Given the description of an element on the screen output the (x, y) to click on. 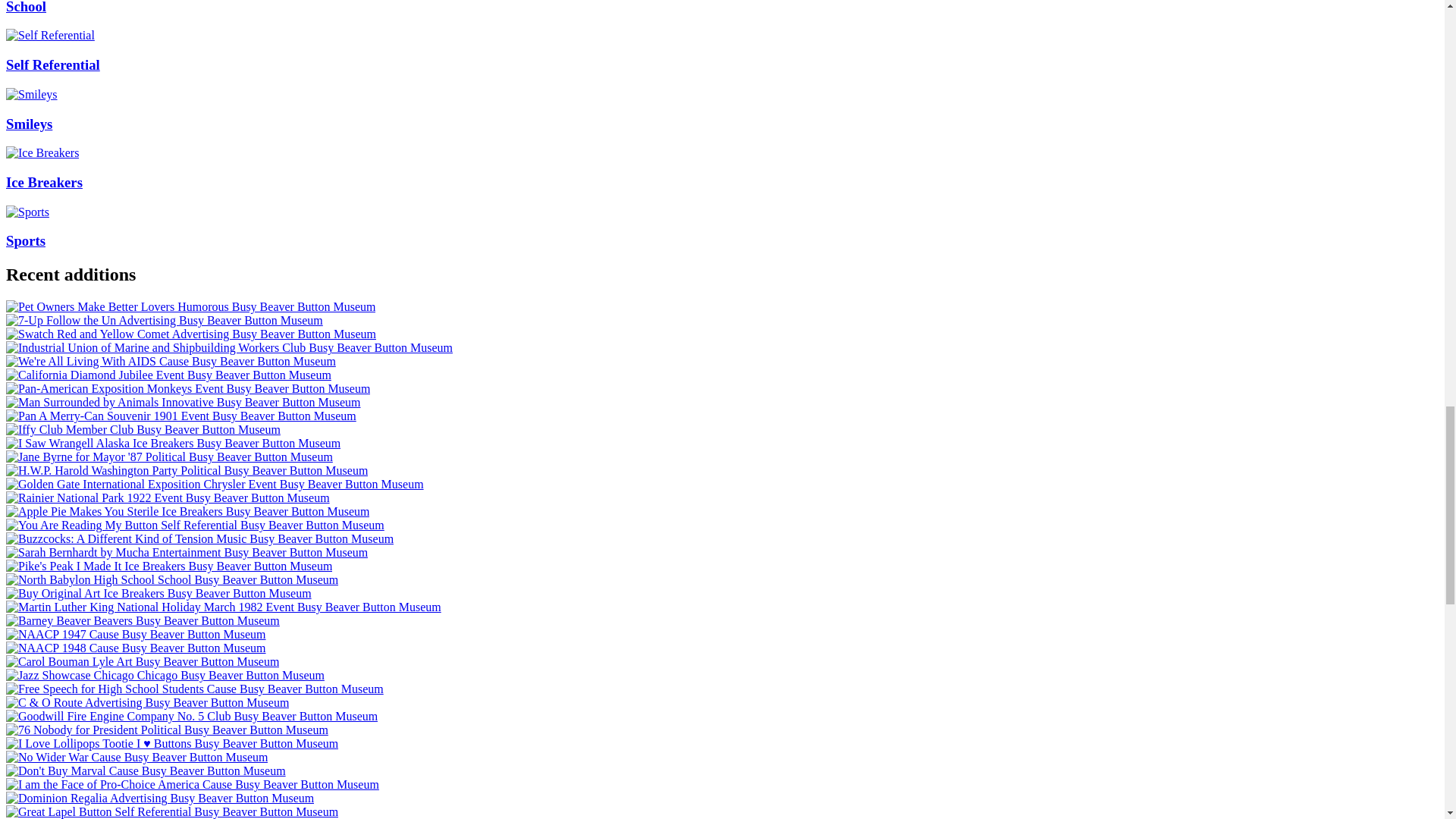
I Saw Wrangell Alaska (172, 443)
Golden Gate International Exposition Chrysler (214, 484)
Industrial Union of Marine and Shipbuilding Workers (228, 347)
Pet Owners Make Better Lovers (190, 306)
7-Up Follow the Un (164, 320)
Iffy Club Member (143, 429)
Man Surrounded by Animals (183, 402)
Pan-American Exposition Monkeys (187, 388)
We're All Living With AIDS (170, 361)
Apple Pie Makes You Sterile (187, 511)
